Given the description of an element on the screen output the (x, y) to click on. 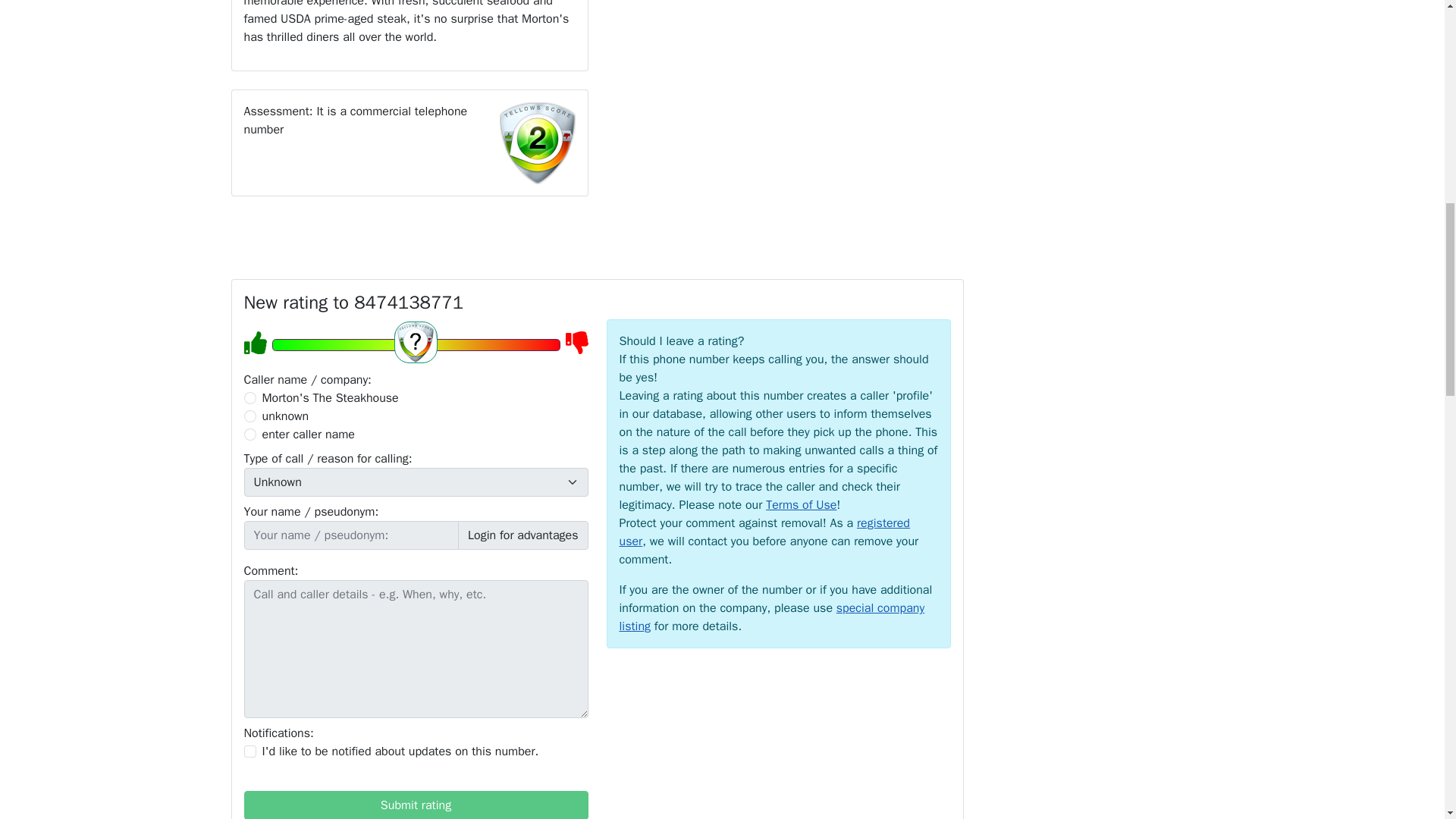
Terms of Use (800, 504)
Login for advantages (523, 534)
2 (250, 416)
0 (250, 398)
1 (250, 751)
registered user (763, 531)
3 (250, 434)
Submit rating (416, 805)
Submit rating (416, 805)
5 (414, 344)
special company listing (771, 616)
